Given the description of an element on the screen output the (x, y) to click on. 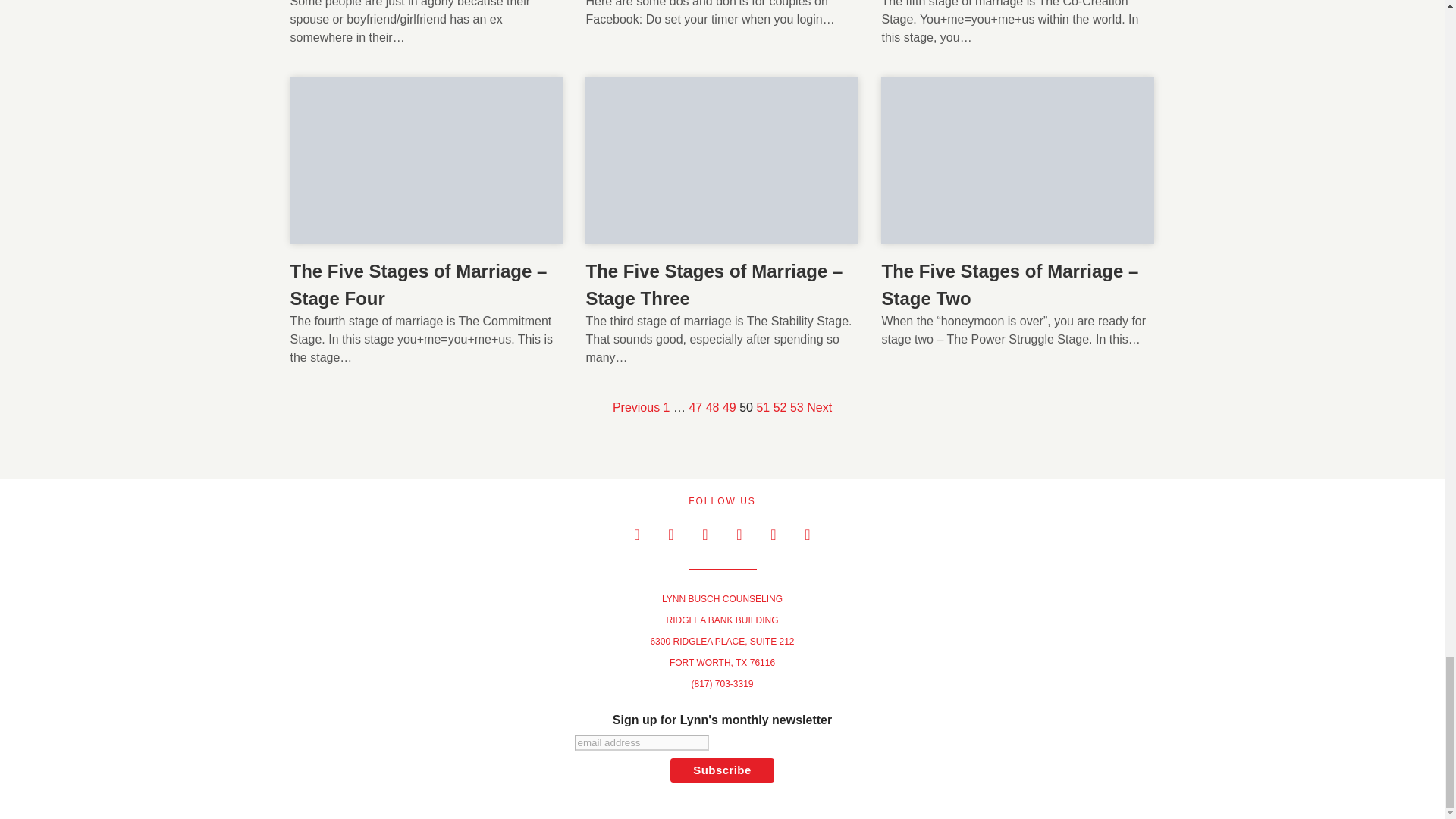
Subscribe (721, 770)
Previous (635, 407)
Next (818, 407)
6300 RIDGLEA PLACE, SUITE 212 (721, 641)
Subscribe (721, 770)
